Given the description of an element on the screen output the (x, y) to click on. 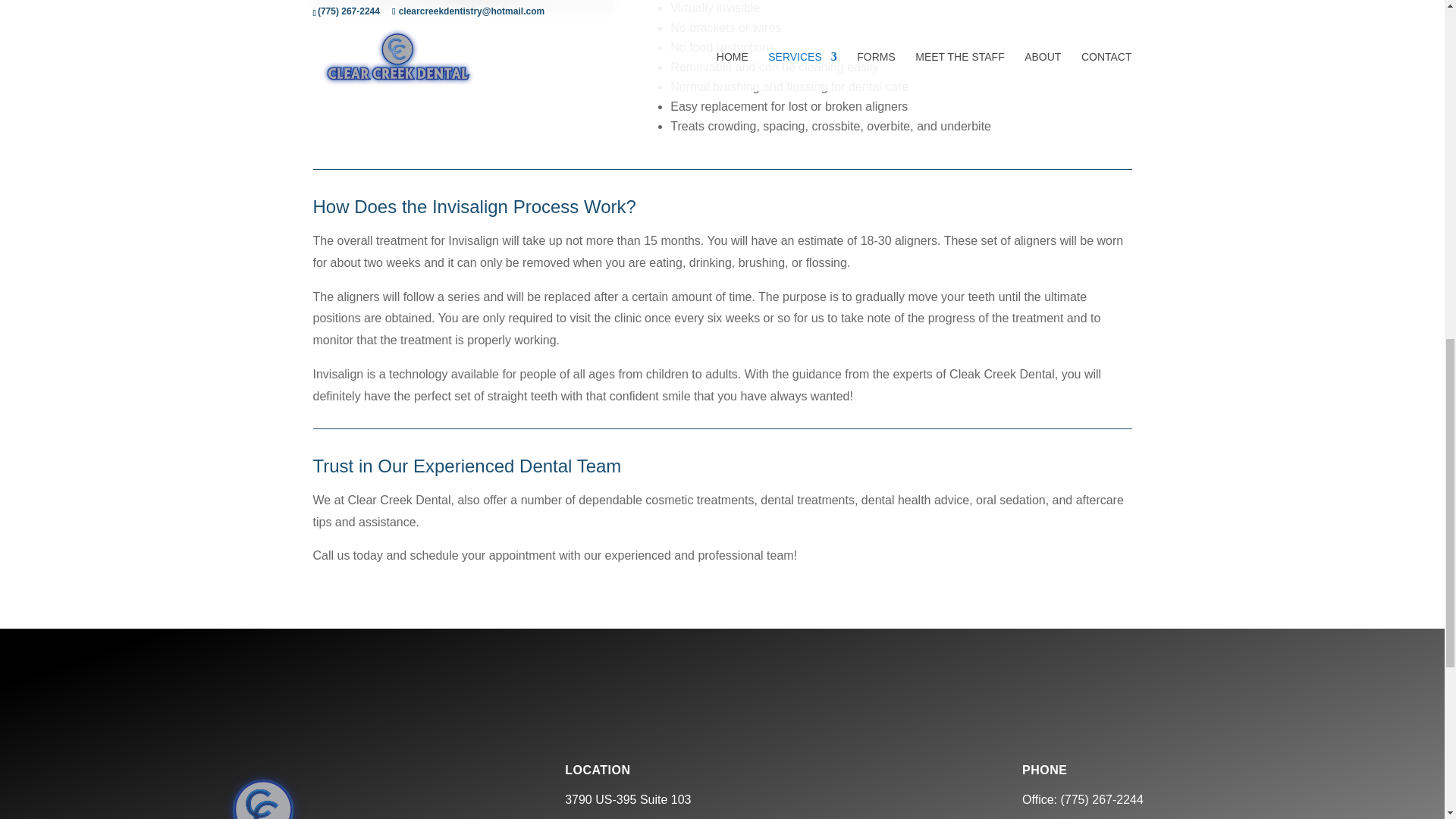
dentist (264, 789)
invisalign (462, 4)
